Given the description of an element on the screen output the (x, y) to click on. 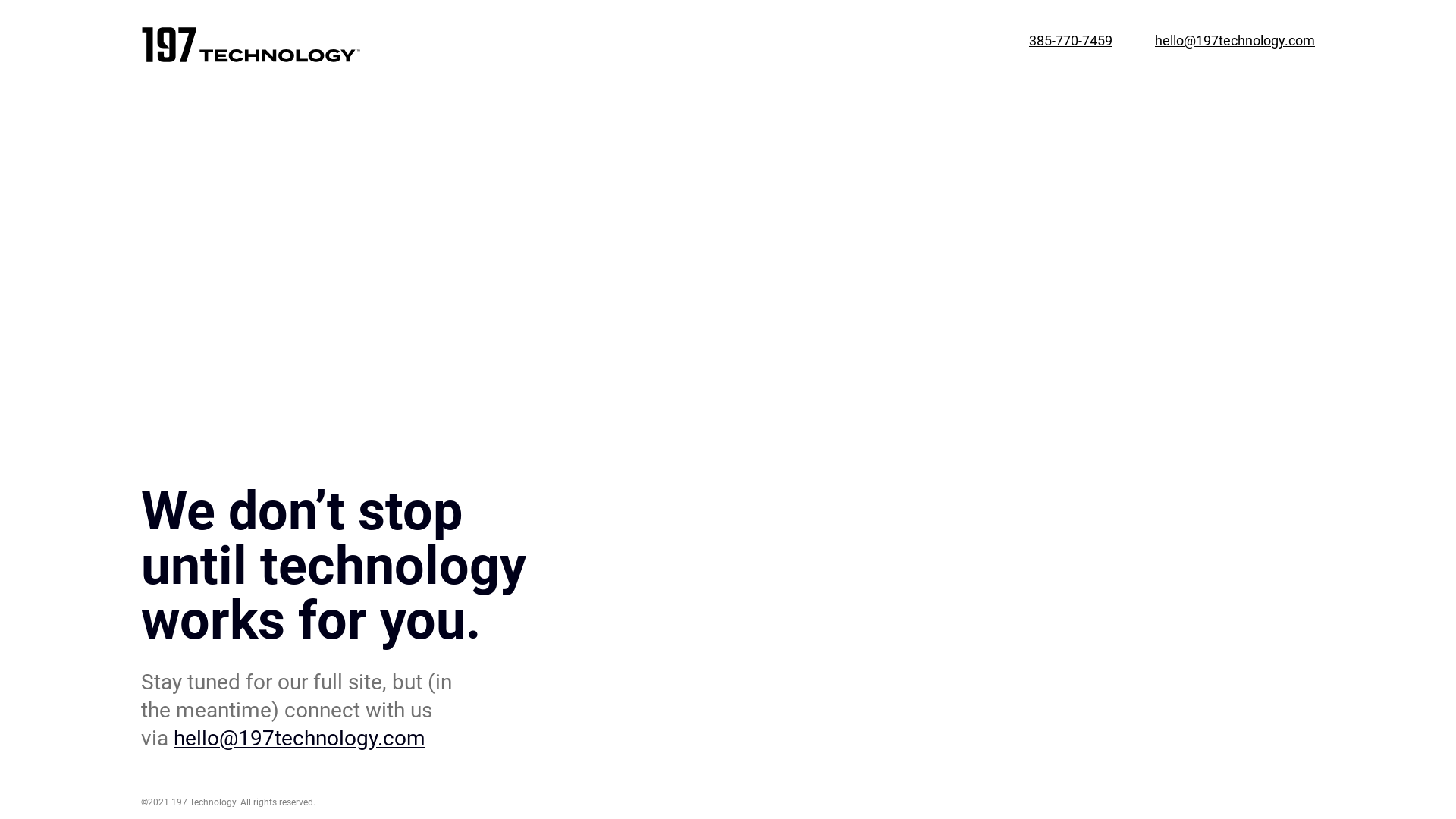
hello@197technology.com Element type: text (1234, 47)
385-770-7459 Element type: text (1070, 47)
hello@197technology.com Element type: text (299, 737)
